Given the description of an element on the screen output the (x, y) to click on. 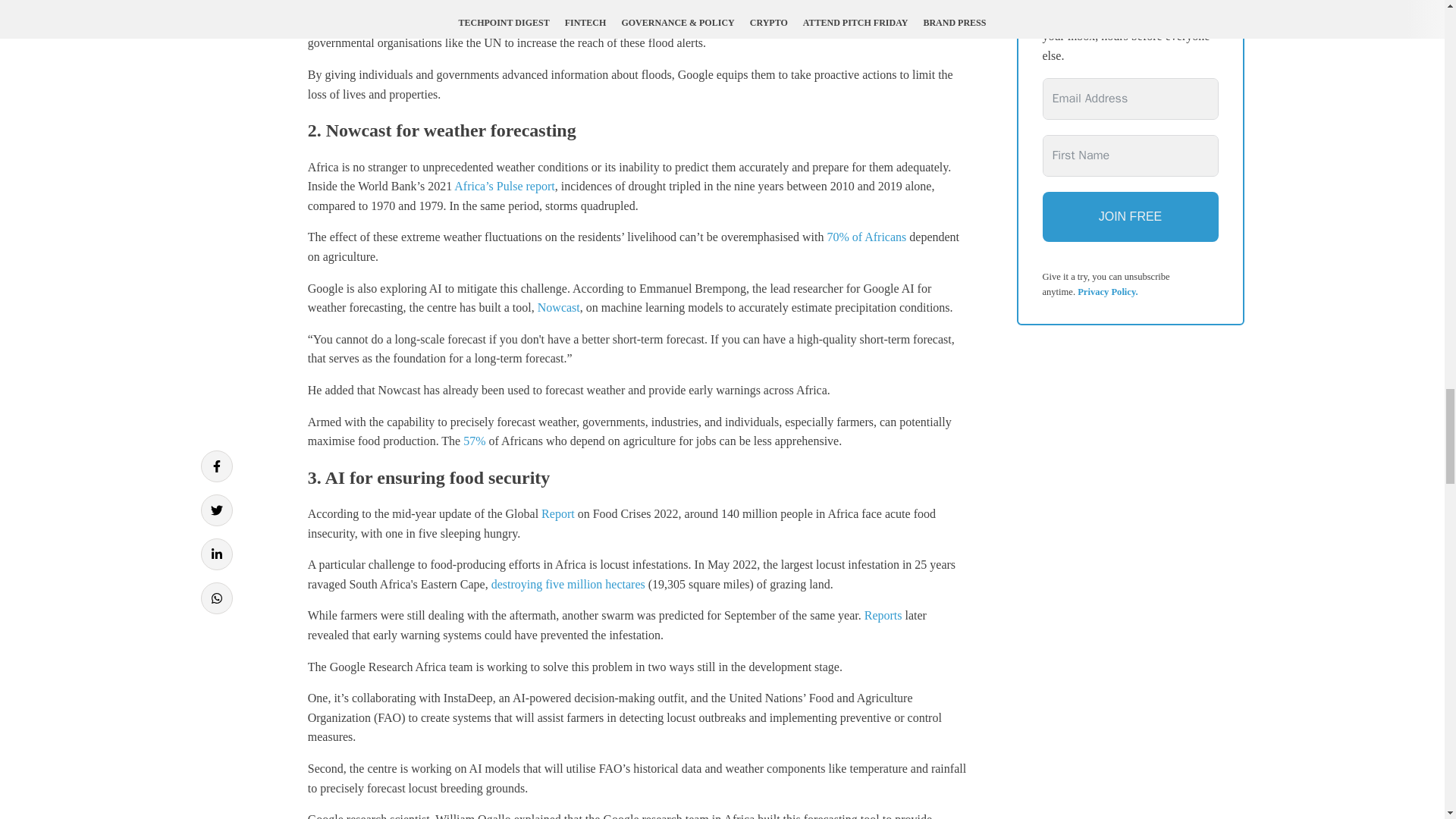
Nowcast (558, 307)
